Given the description of an element on the screen output the (x, y) to click on. 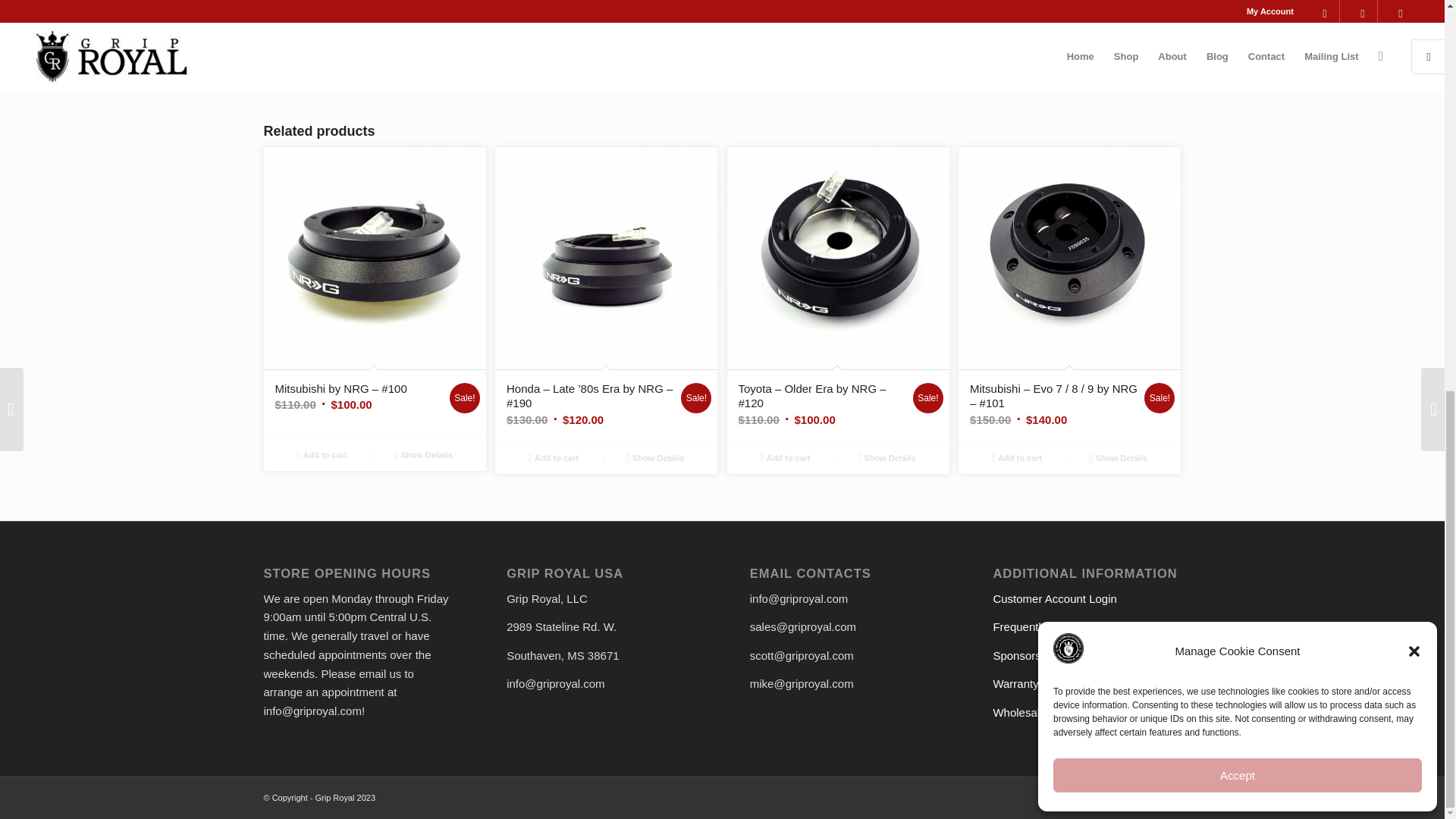
Instagram (1124, 795)
Facebook (1086, 795)
Youtube (1162, 795)
Accept (1237, 27)
